Given the description of an element on the screen output the (x, y) to click on. 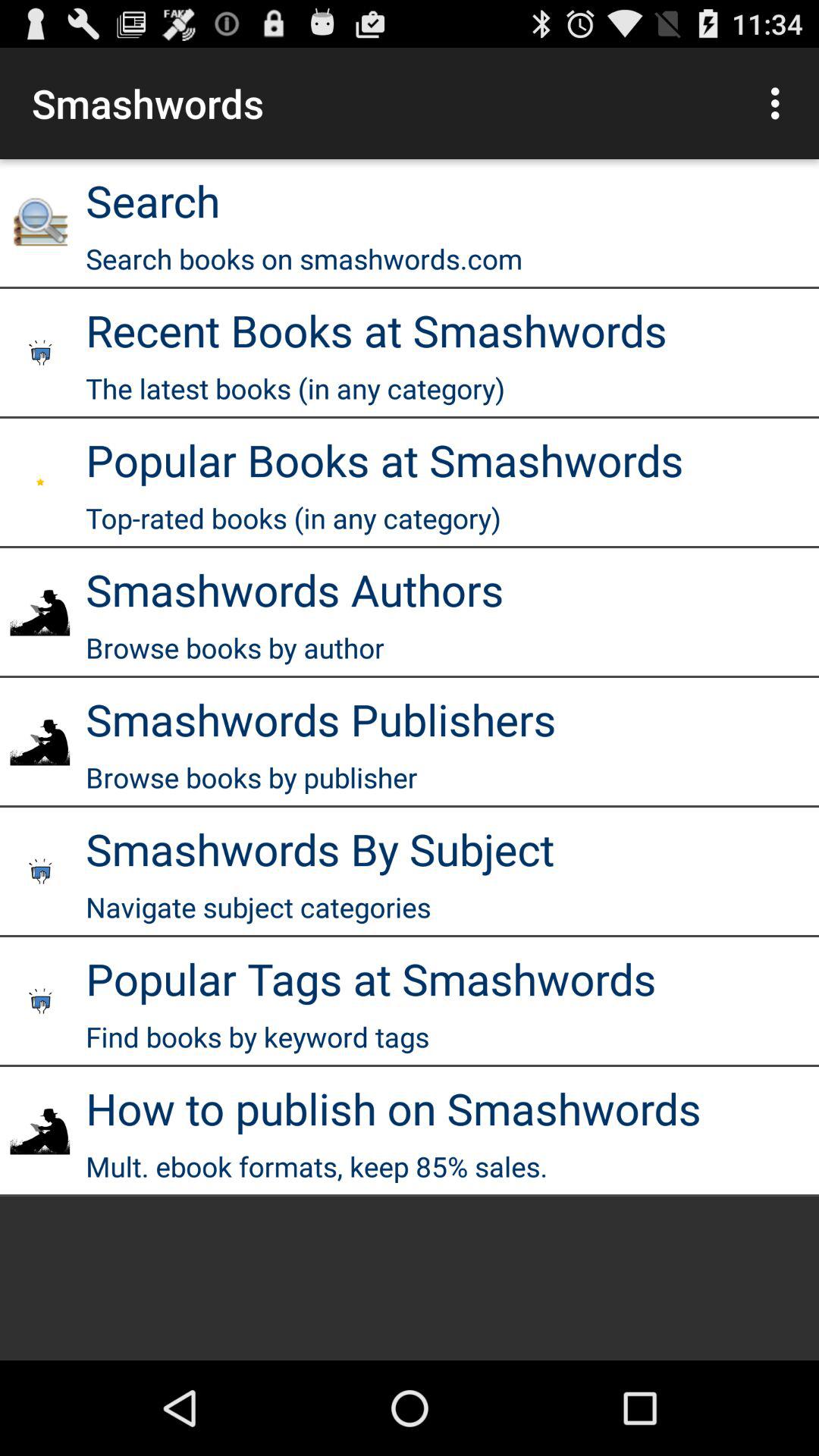
flip to the mult ebook formats app (316, 1166)
